Given the description of an element on the screen output the (x, y) to click on. 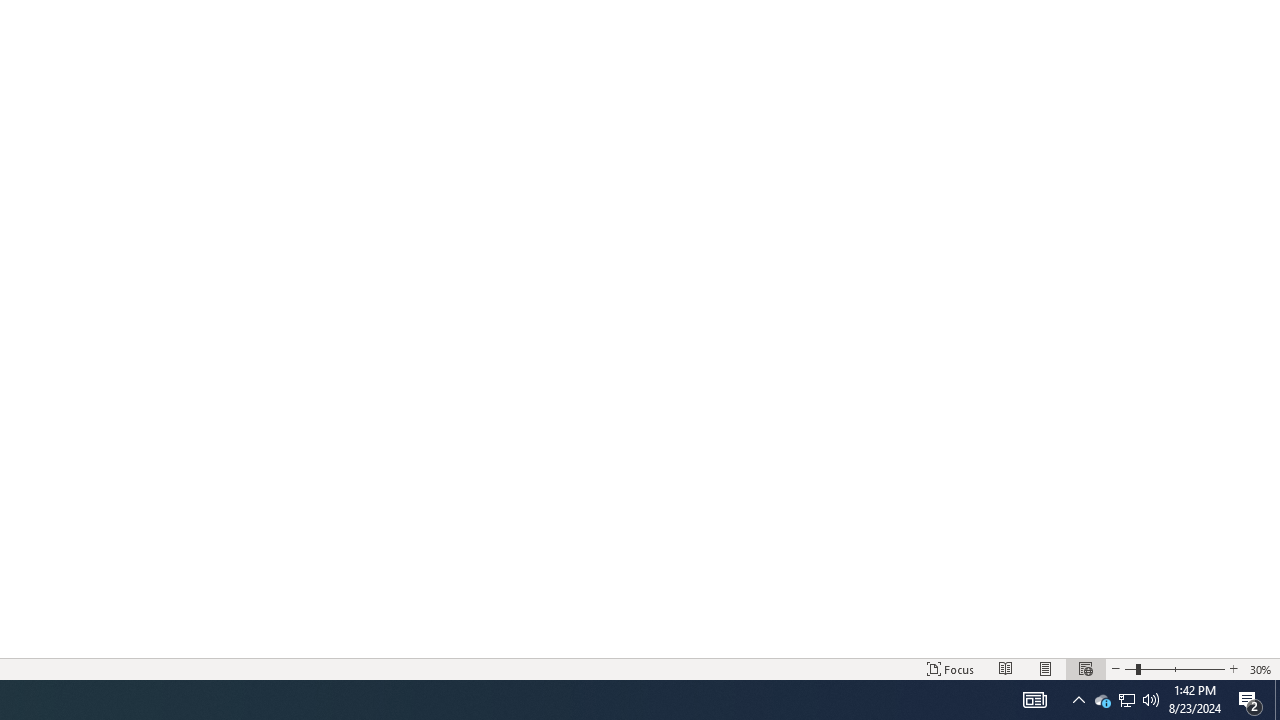
Zoom 30% (1261, 668)
